Given the description of an element on the screen output the (x, y) to click on. 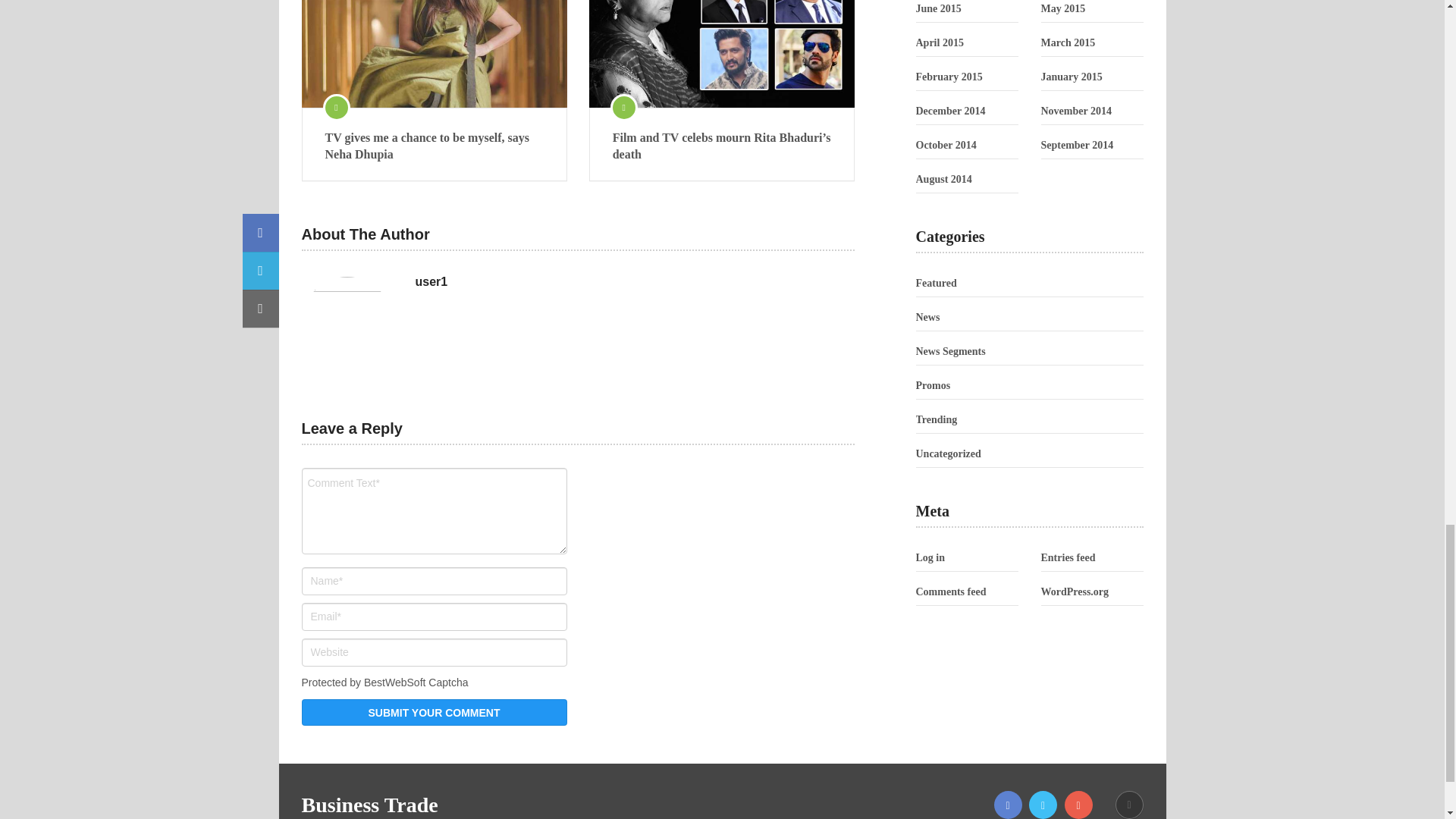
TV gives me a chance to be myself, says Neha Dhupia (433, 146)
TV gives me a chance to be myself, says Neha Dhupia (434, 53)
Submit Your Comment (434, 712)
user1 (431, 281)
TV gives me a chance to be myself, says Neha Dhupia (433, 146)
Submit Your Comment (434, 712)
